Given the description of an element on the screen output the (x, y) to click on. 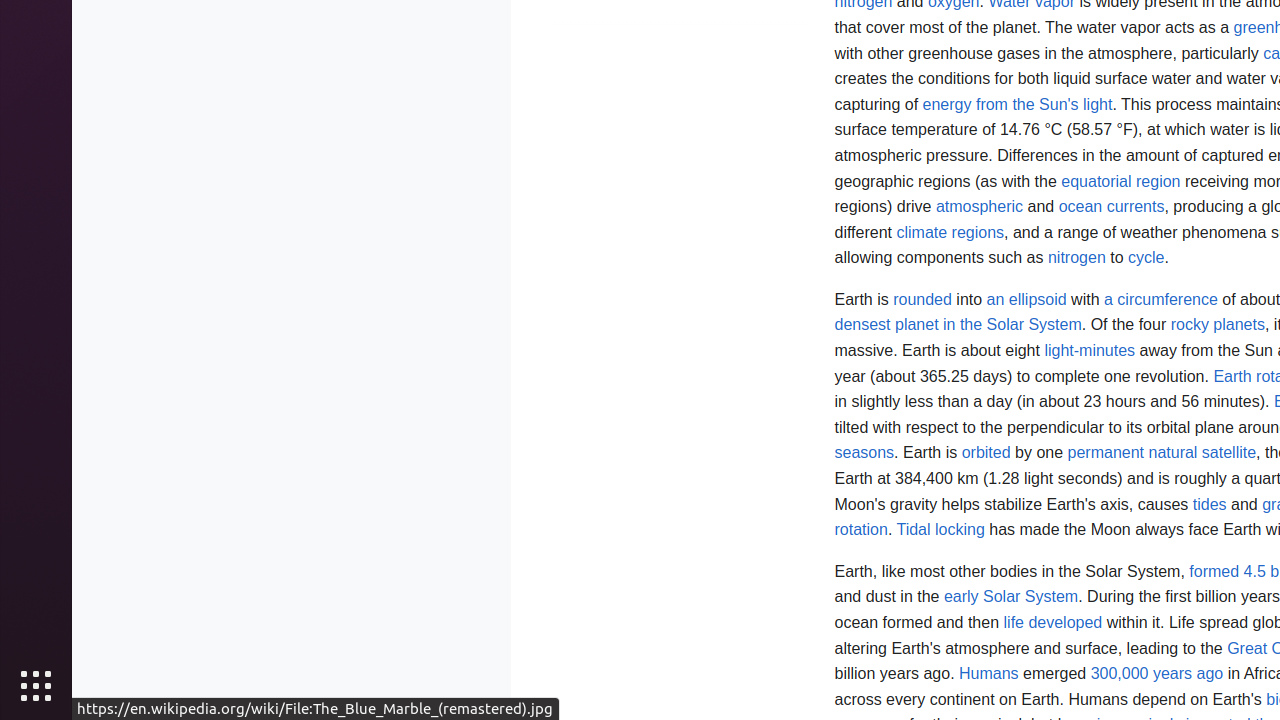
Humans Element type: link (989, 674)
early Solar System Element type: link (1011, 597)
Show Applications Element type: toggle-button (36, 686)
natural satellite Element type: link (1202, 453)
Tidal locking Element type: link (940, 530)
